Given the description of an element on the screen output the (x, y) to click on. 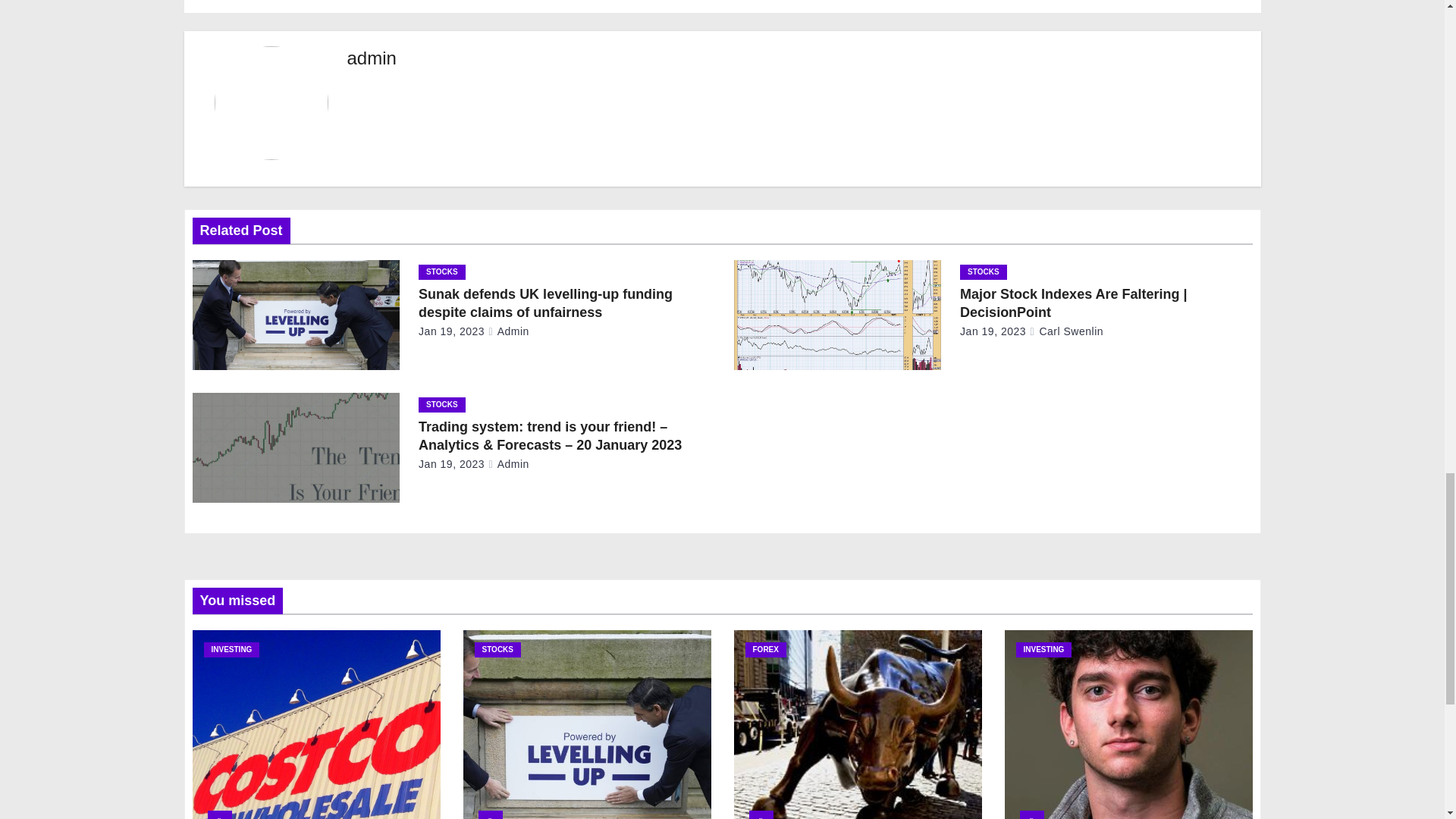
Admin (507, 331)
STOCKS (983, 272)
STOCKS (442, 272)
admin (371, 57)
Jan 19, 2023 (992, 331)
Jan 19, 2023 (451, 331)
